Given the description of an element on the screen output the (x, y) to click on. 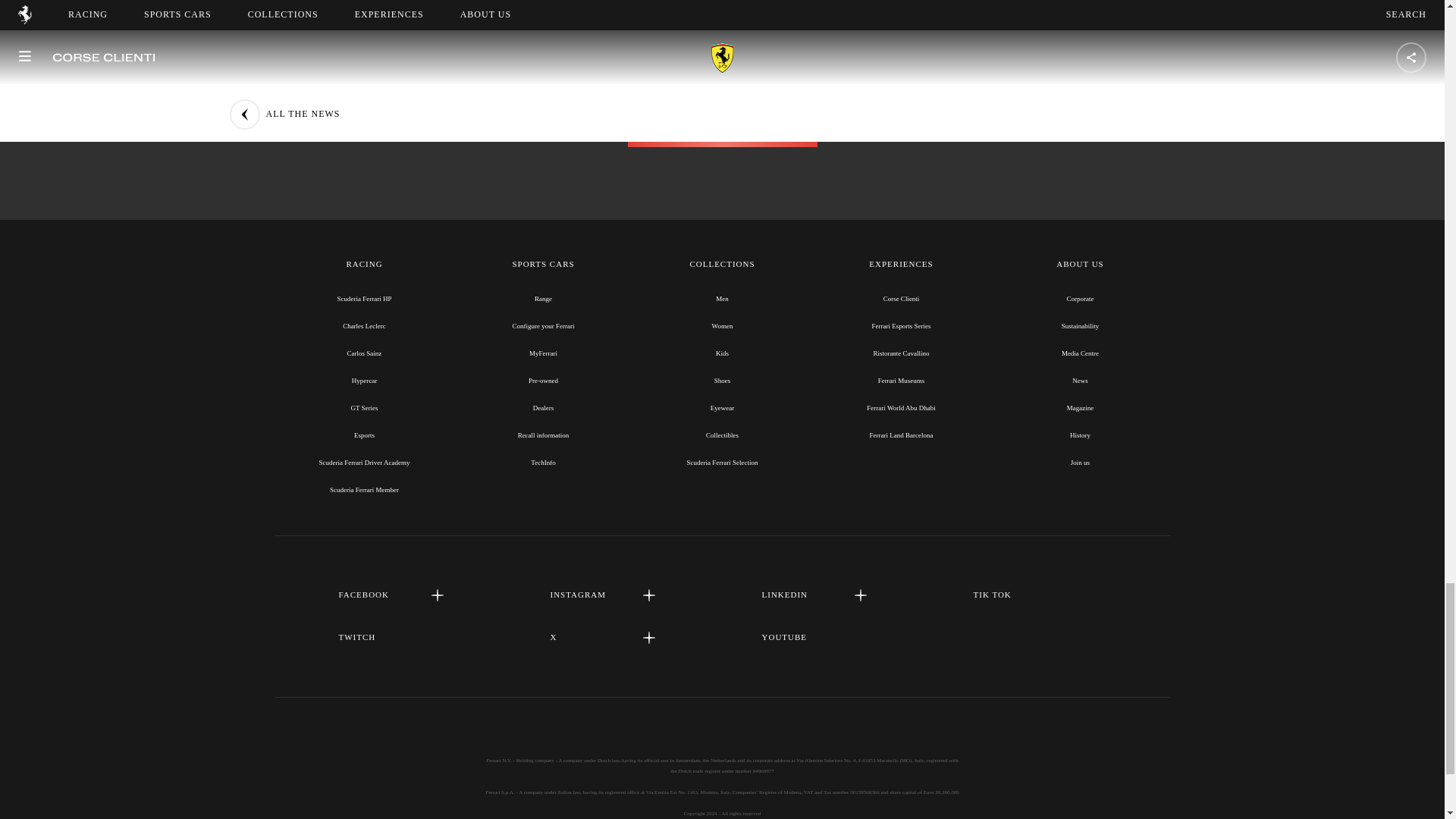
Configure your Ferrari (543, 326)
Esports (363, 434)
GT Series (363, 407)
Range (542, 298)
Recall information (543, 434)
Scuderia Ferrari HP (363, 298)
Scuderia Ferrari Driver Academy (363, 462)
Hypercar (364, 380)
Pre-owned (542, 380)
MyFerrari (543, 353)
